Given the description of an element on the screen output the (x, y) to click on. 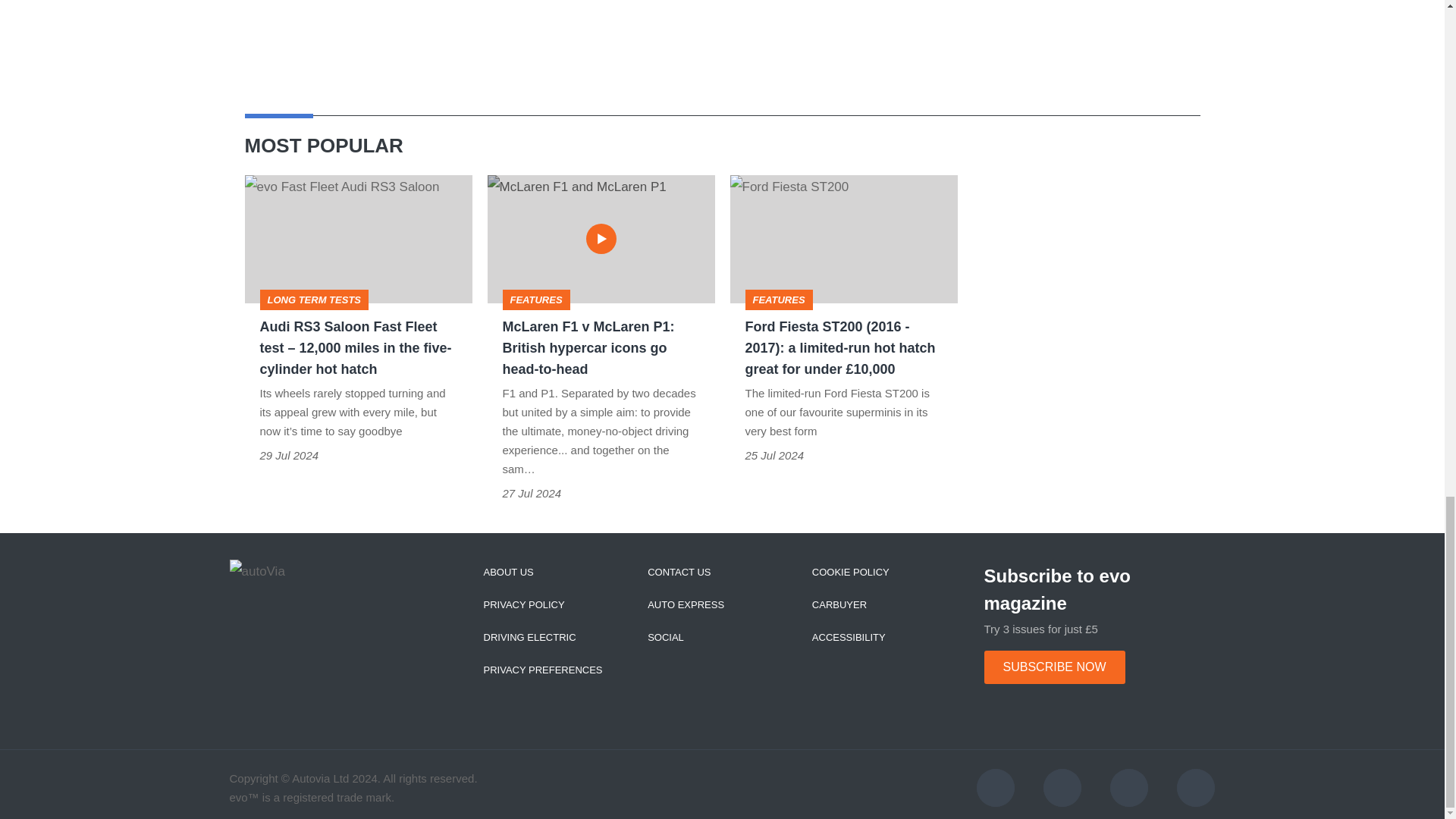
Subscribe now (1054, 666)
